Given the description of an element on the screen output the (x, y) to click on. 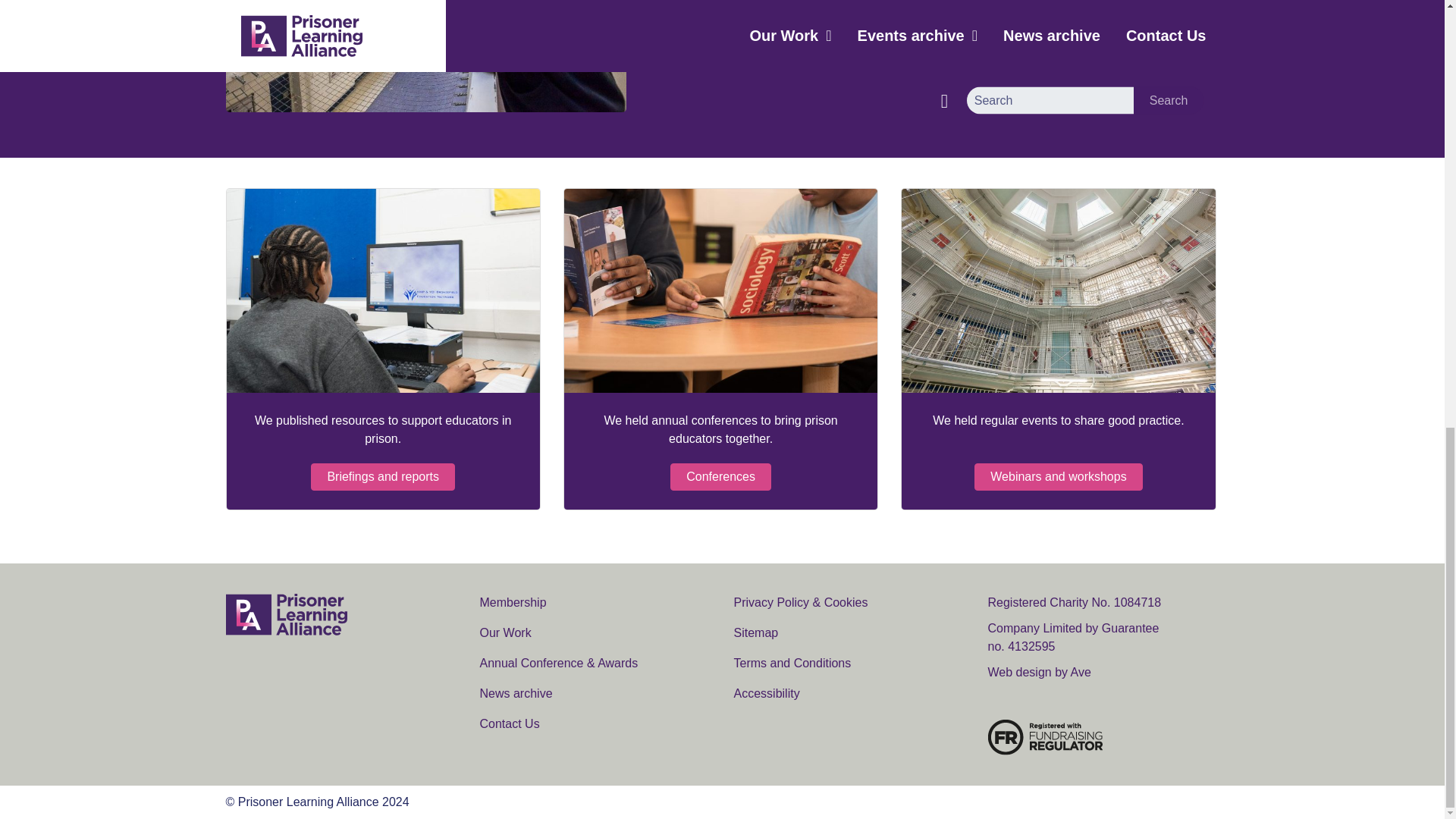
Our Work (505, 632)
Webinars and workshops (1057, 291)
Contact Us (508, 723)
Conferences (720, 476)
Conferences (720, 476)
News archive (515, 693)
Briefings and reports (382, 476)
Terms and Conditions (792, 662)
Conferences (720, 291)
Web design by Ave (1038, 671)
